Given the description of an element on the screen output the (x, y) to click on. 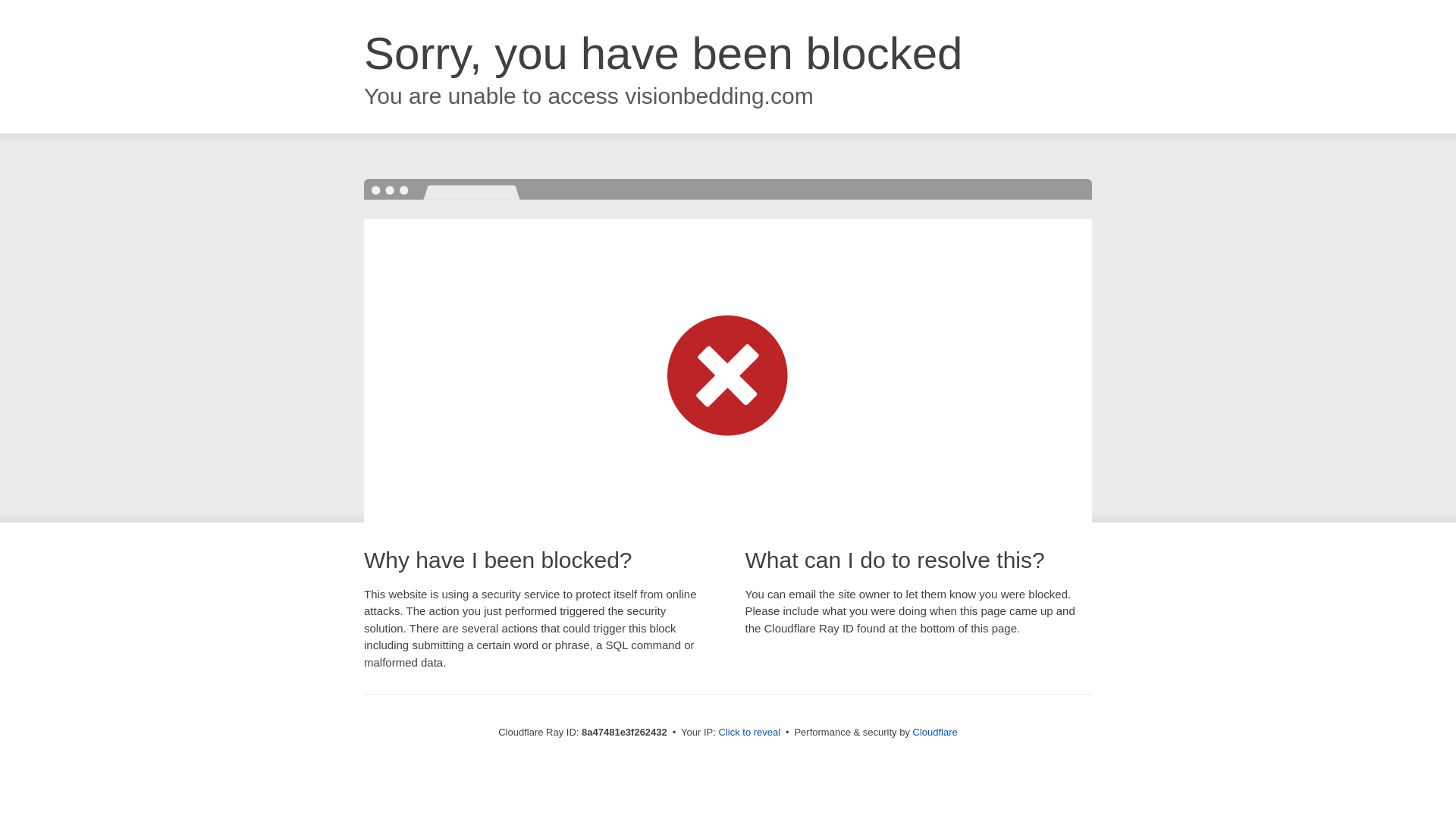
Click to reveal (749, 732)
Cloudflare (935, 731)
